Given the description of an element on the screen output the (x, y) to click on. 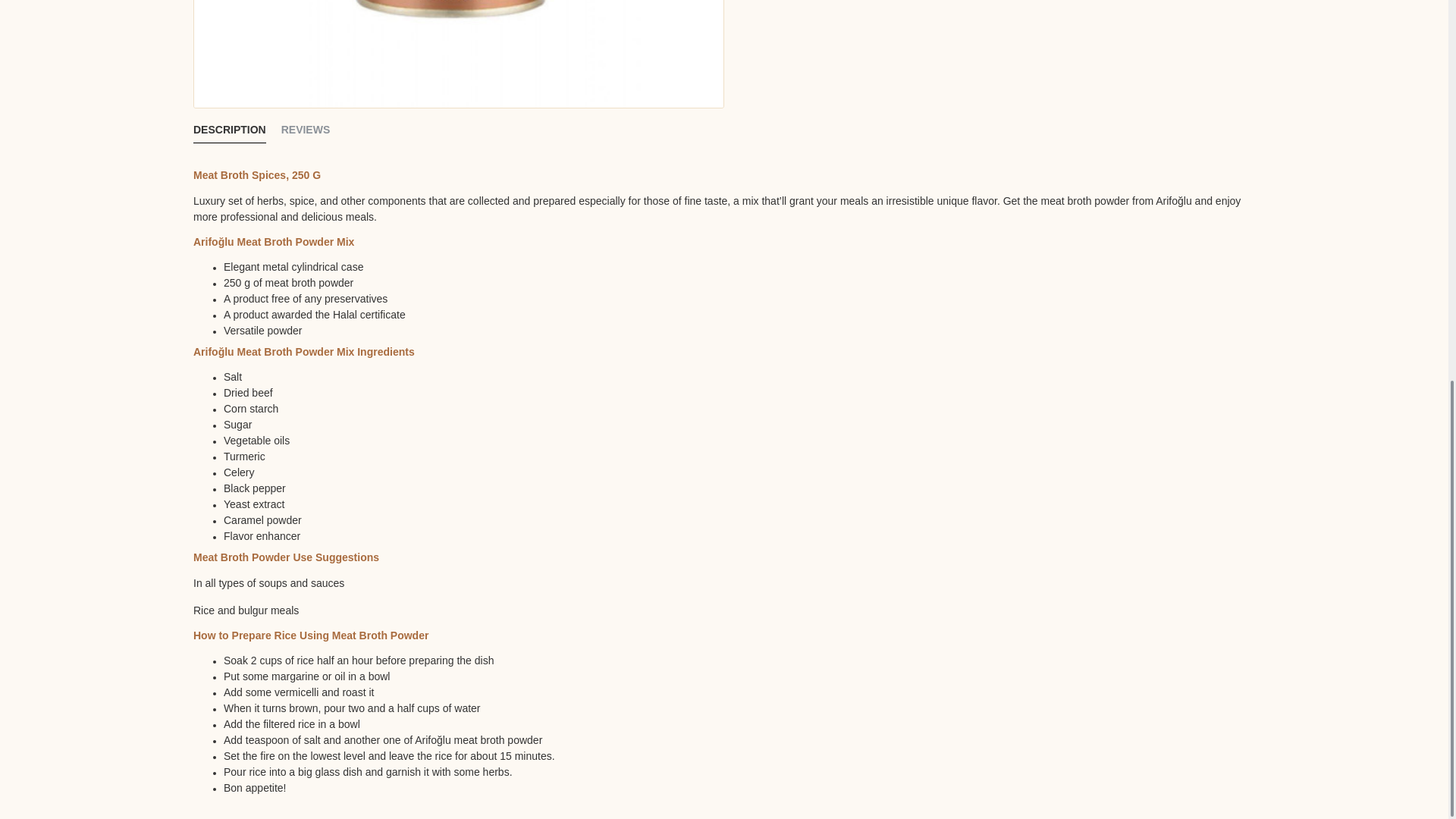
Meat broth spices 250 g (458, 53)
